Given the description of an element on the screen output the (x, y) to click on. 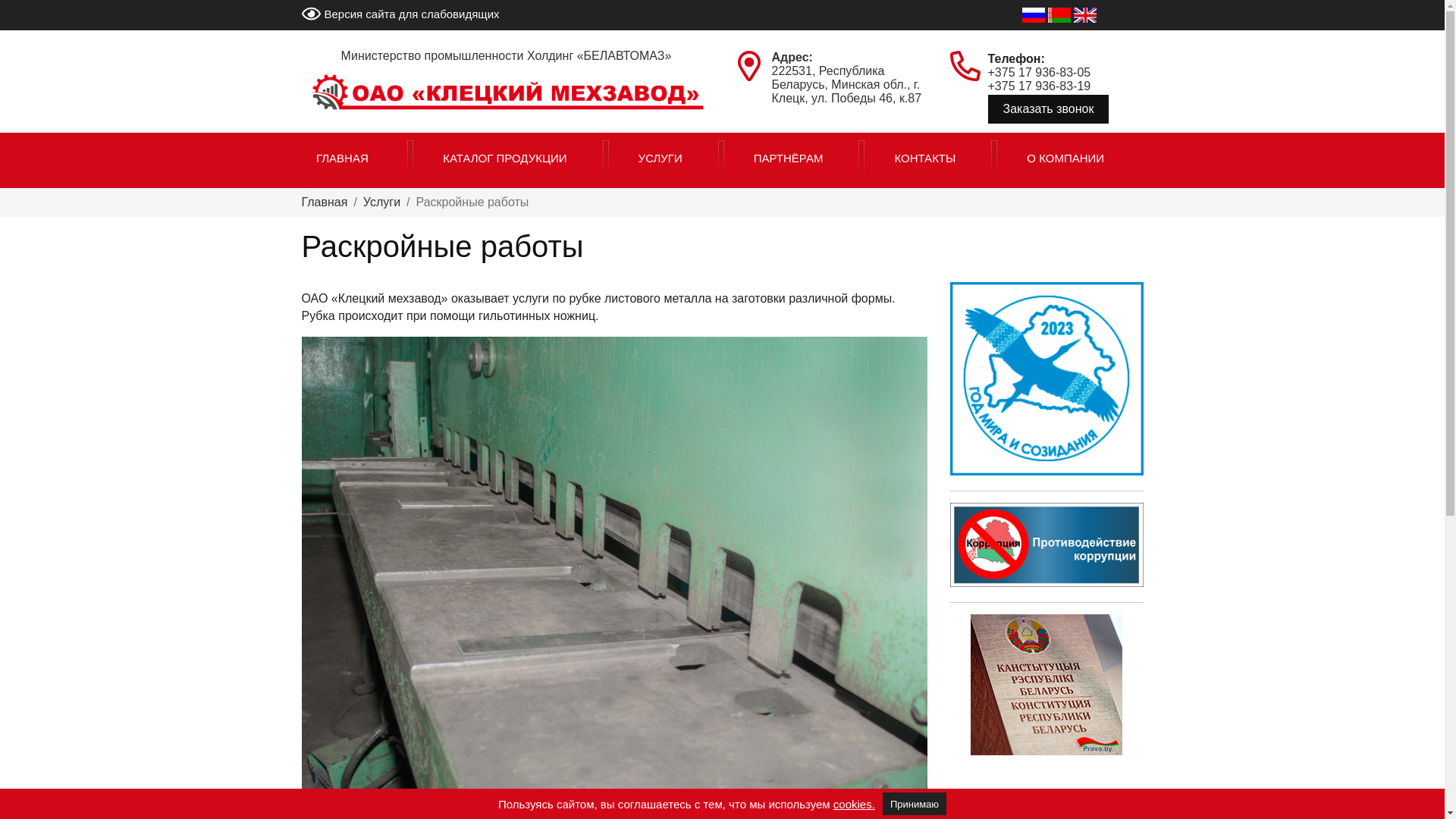
cookies. Element type: text (854, 803)
+375 17 936-83-05 Element type: text (1038, 71)
+375 17 936-83-19 Element type: text (1038, 85)
